Given the description of an element on the screen output the (x, y) to click on. 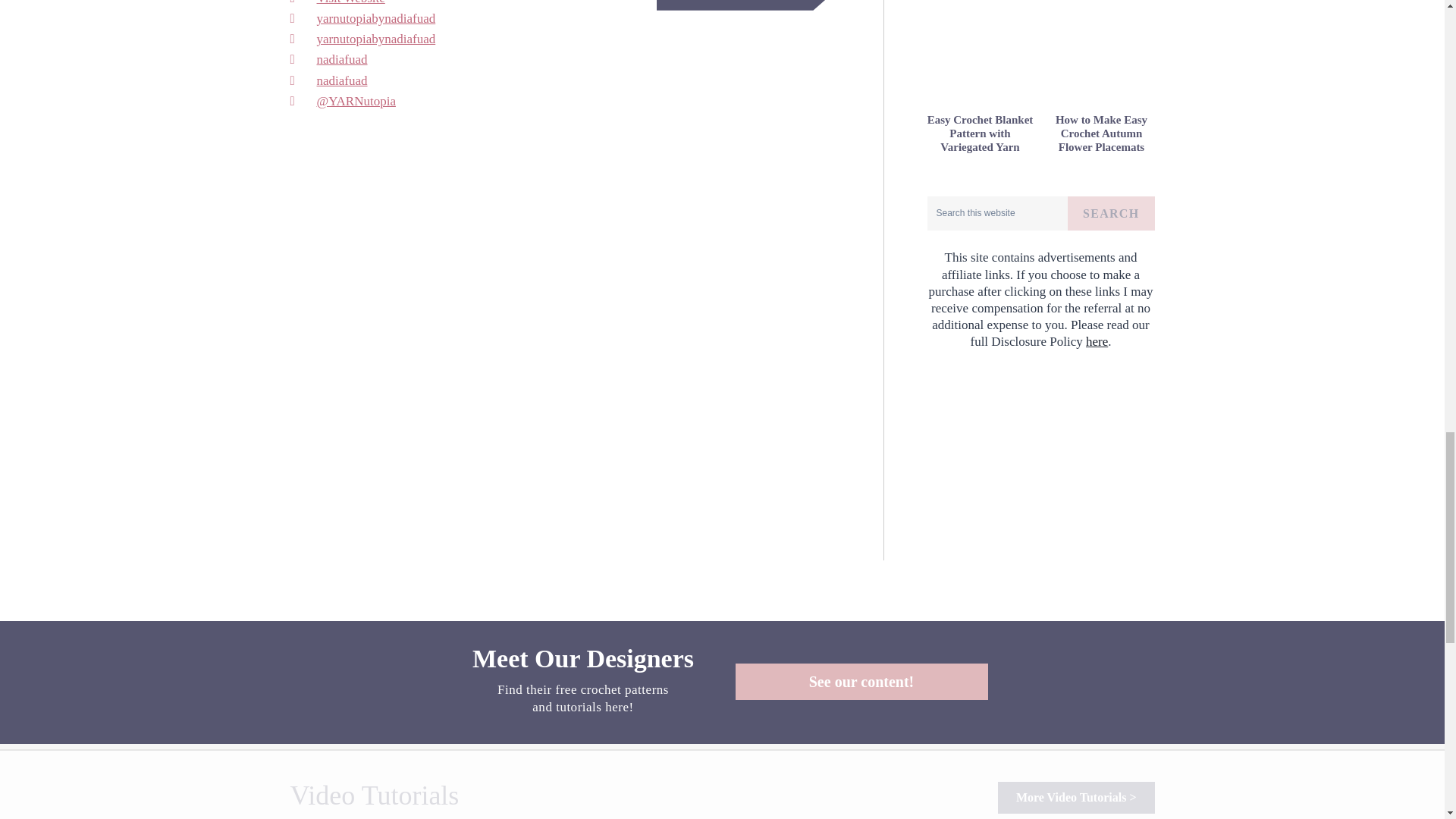
nadiafuad (362, 59)
yarnutopiabynadiafuad (362, 38)
nadiafuad (362, 80)
View Full Post (747, 5)
Visit Website (362, 4)
yarnutopiabynadiafuad (362, 18)
